Given the description of an element on the screen output the (x, y) to click on. 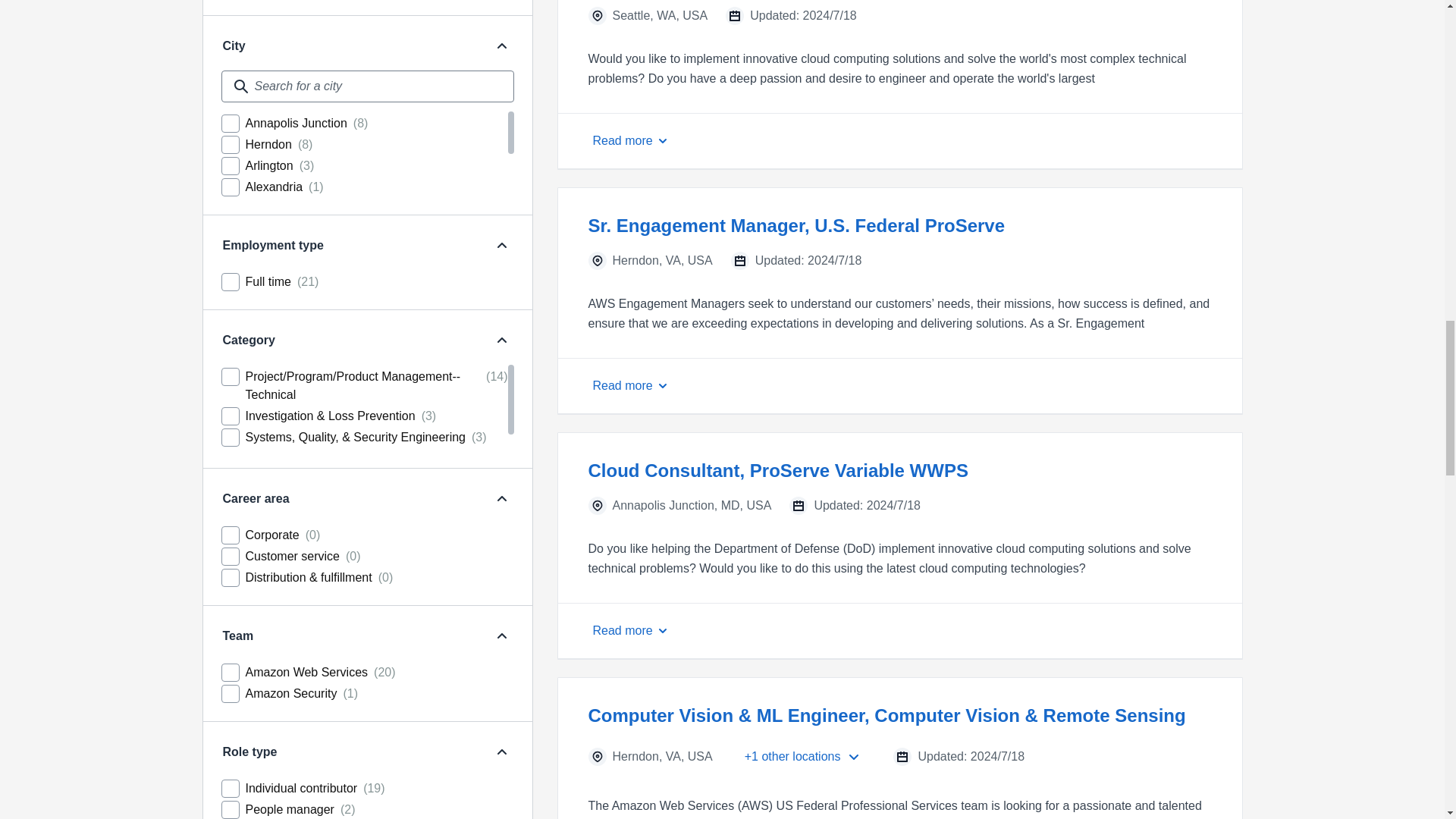
City (350, 46)
Employment type (501, 245)
City (501, 46)
Category (350, 340)
Employment type (350, 245)
